Given the description of an element on the screen output the (x, y) to click on. 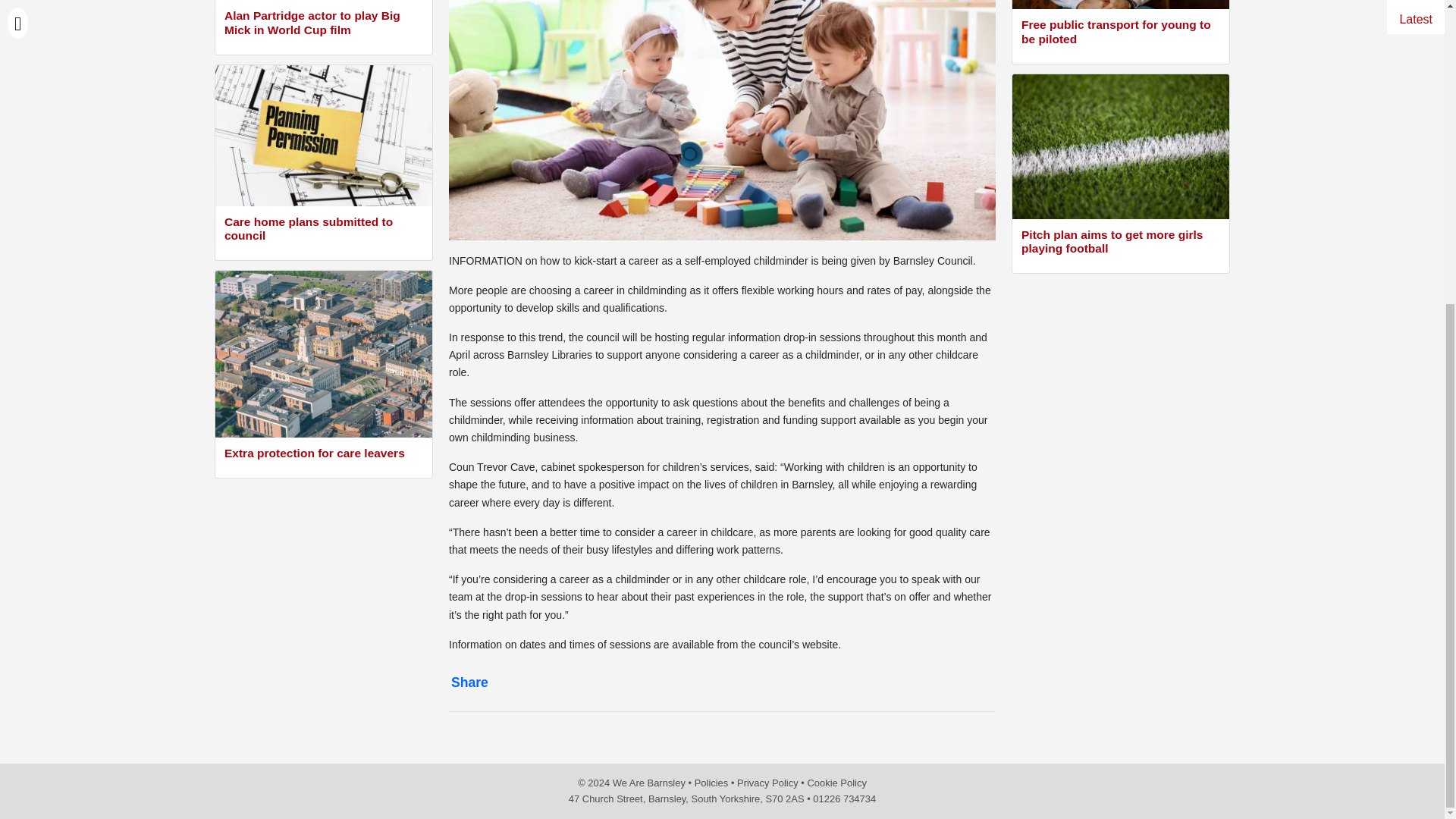
Extra protection for care leavers (323, 455)
Alan Partridge actor to play Big Mick in World Cup film (323, 24)
Care home plans submitted to council (323, 230)
Free public transport for young to be piloted (1121, 33)
